Given the description of an element on the screen output the (x, y) to click on. 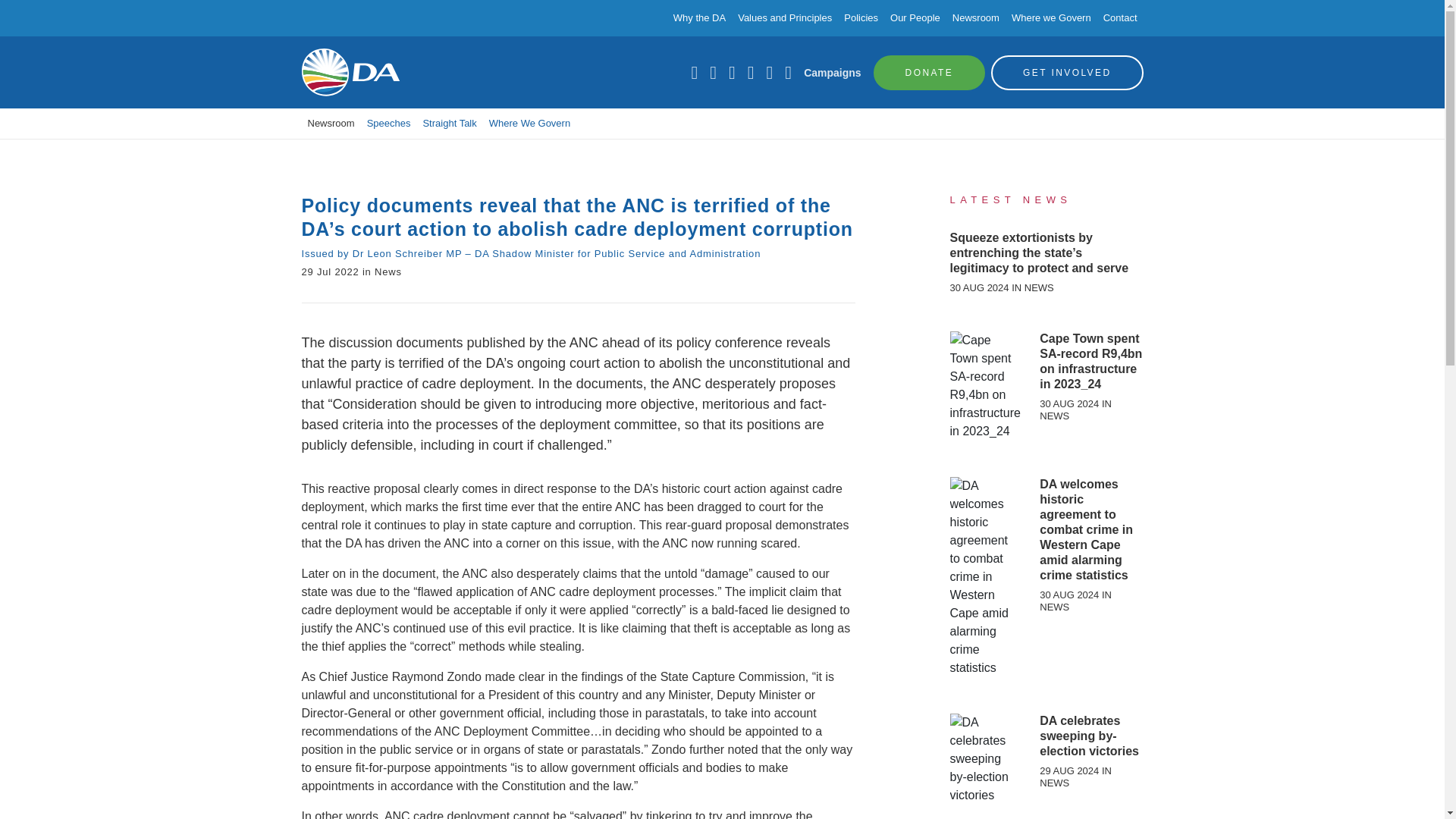
Why the DA (698, 17)
Where We Govern (529, 122)
Newsroom (331, 122)
Speeches (388, 122)
Campaigns (831, 72)
Policies (860, 17)
Donate (929, 70)
Democratic Alliance Logo (350, 72)
Get Involved (1066, 70)
Values and Principles (784, 17)
